Given the description of an element on the screen output the (x, y) to click on. 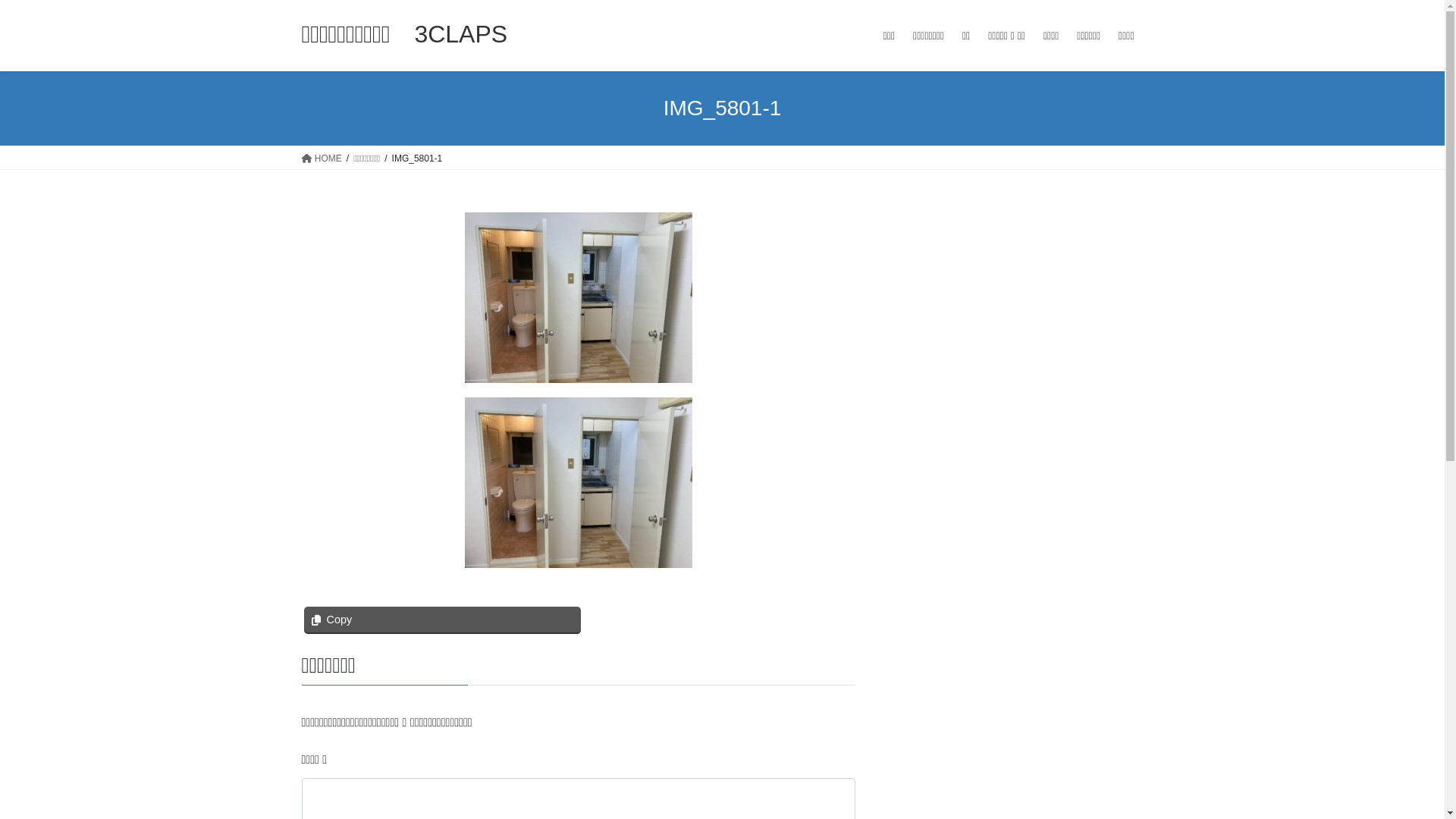
Copy Element type: text (441, 619)
HOME Element type: text (321, 157)
